Given the description of an element on the screen output the (x, y) to click on. 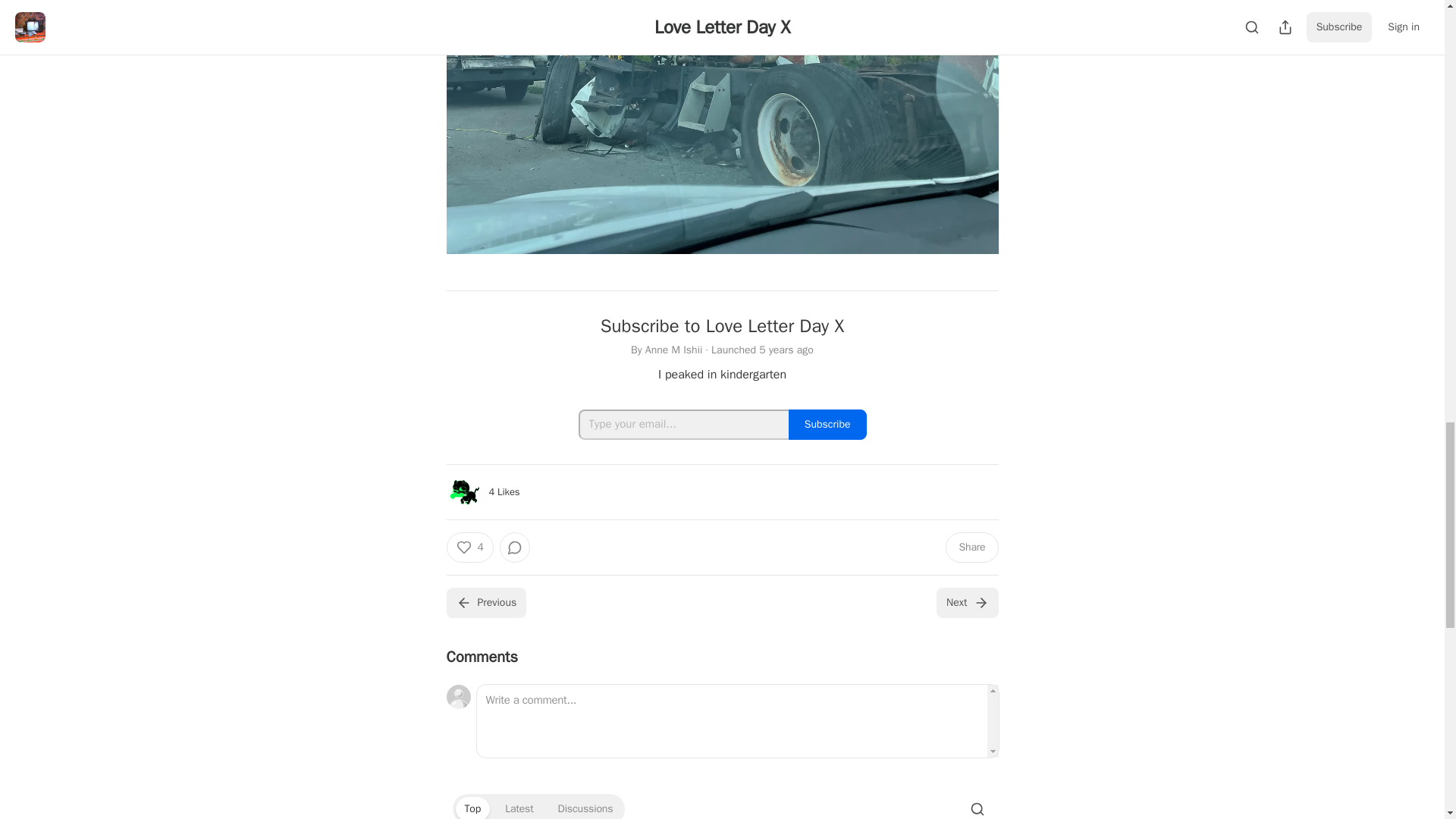
Previous (485, 603)
Share (970, 547)
Subscribe (827, 424)
Latest (518, 807)
4 (469, 547)
Next (966, 603)
4 Likes (503, 491)
Top (471, 807)
